Given the description of an element on the screen output the (x, y) to click on. 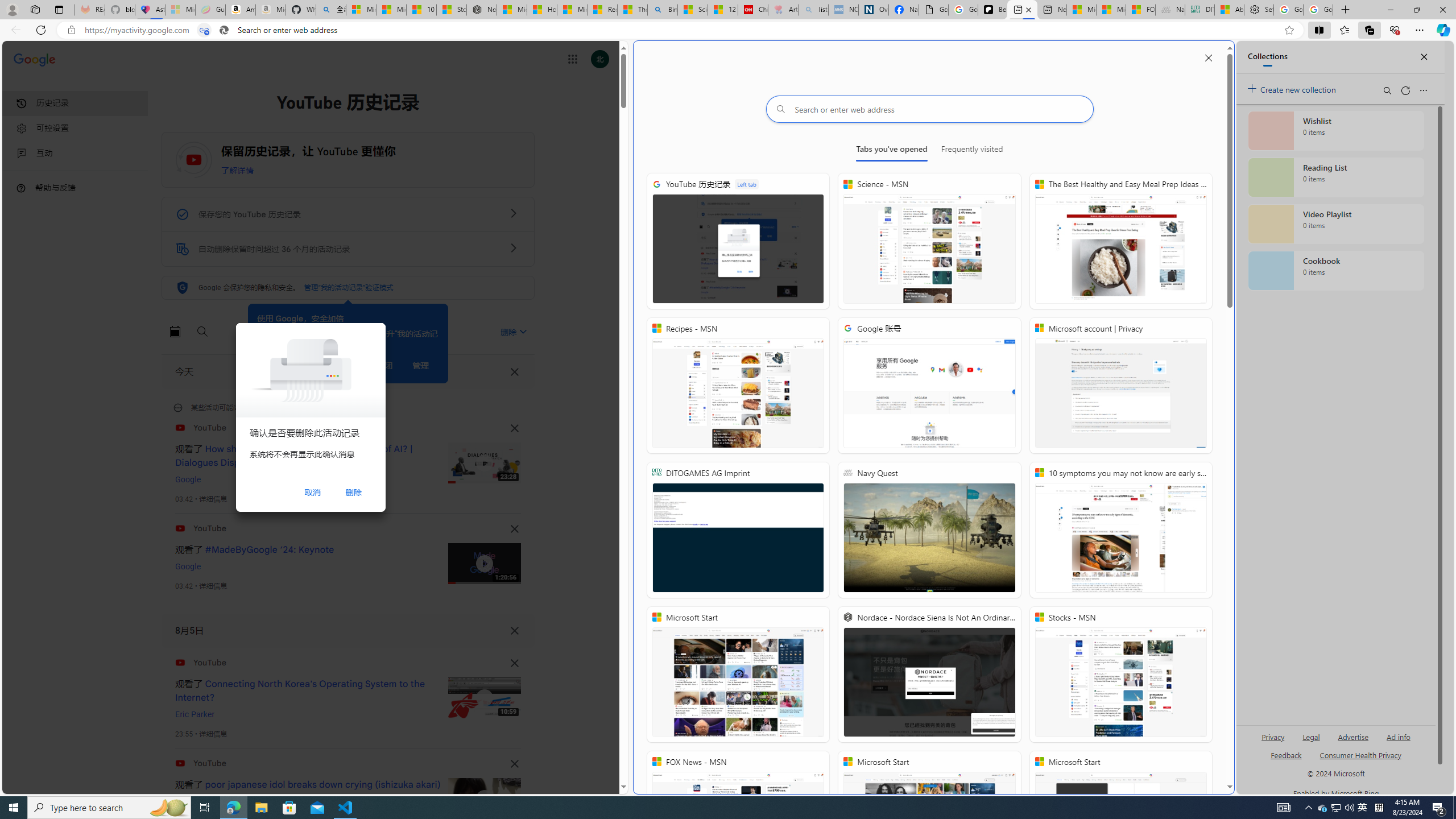
Tabs you've opened (891, 151)
AutomationID: genId96 (1285, 759)
Tabs in split screen (203, 29)
Frequently visited (971, 151)
Close split screen (1208, 57)
FOX News - MSN (1140, 9)
